Given the description of an element on the screen output the (x, y) to click on. 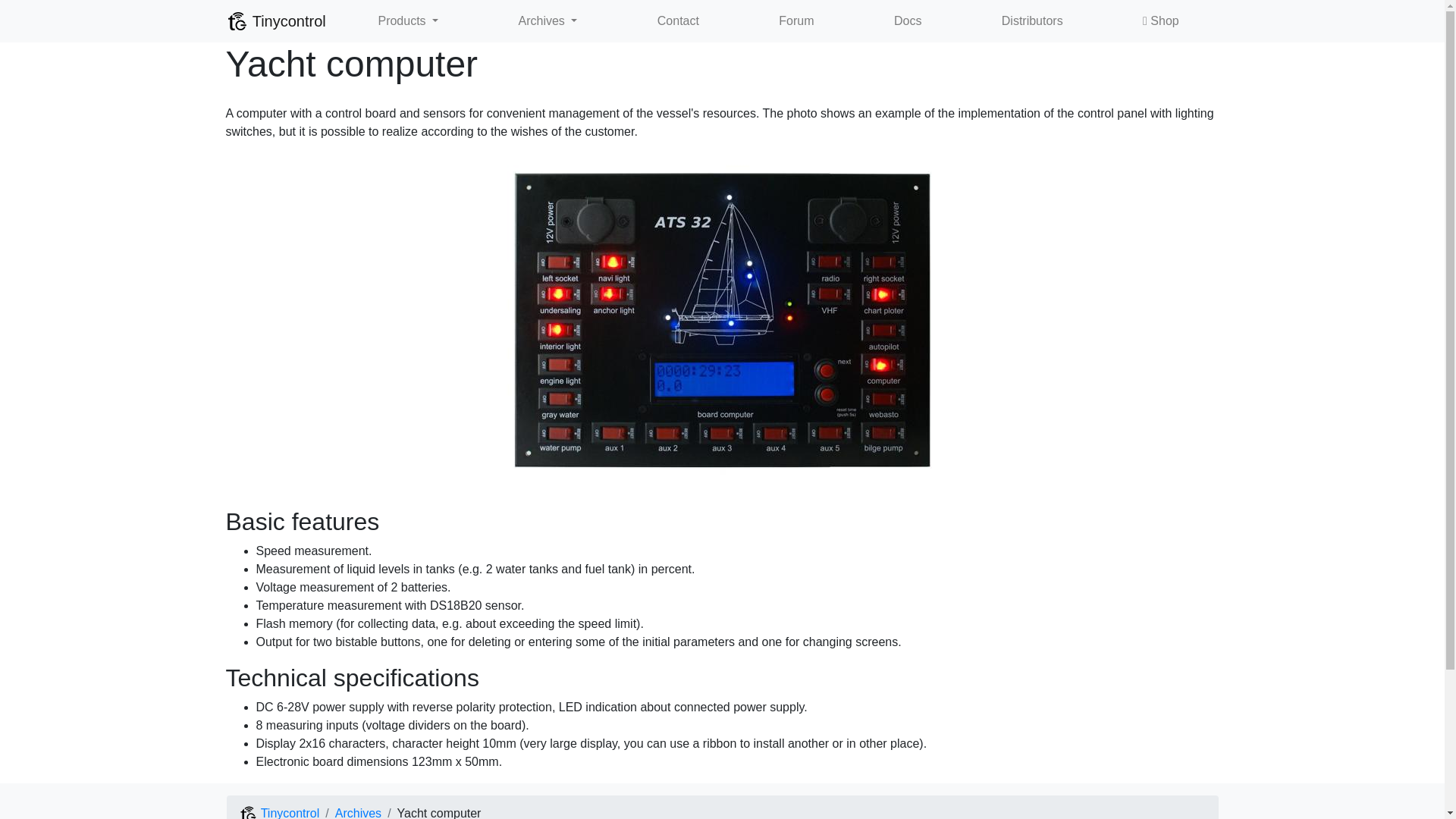
Docs (907, 20)
Tinycontrol (275, 20)
Contact (677, 20)
Archives (357, 812)
Archives (547, 20)
Forum (796, 20)
Products (407, 20)
Shop (1161, 20)
Distributors (1031, 20)
Tinycontrol (278, 812)
